Given the description of an element on the screen output the (x, y) to click on. 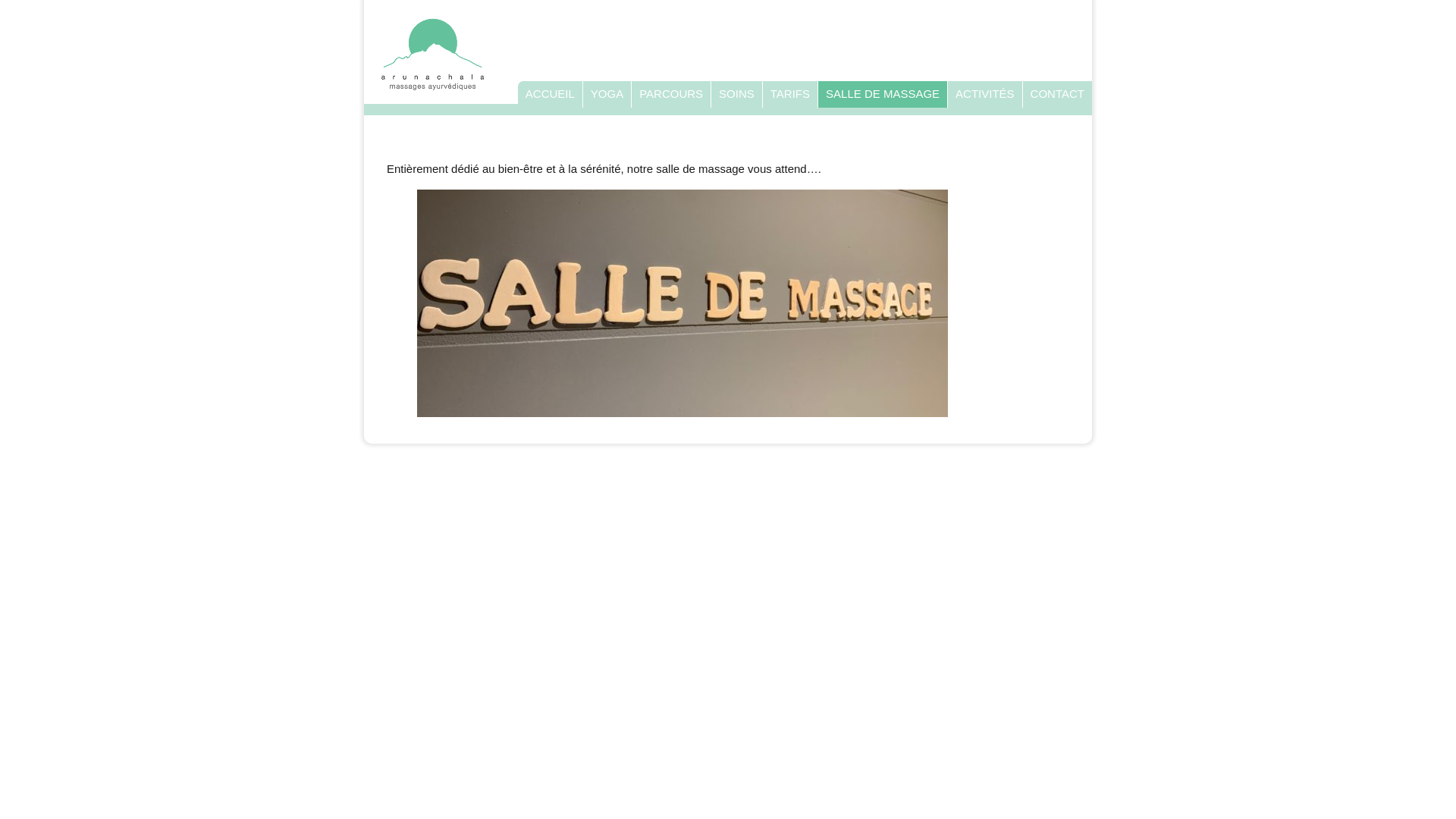
SOINS Element type: text (736, 93)
TARIFS Element type: text (789, 93)
PARCOURS Element type: text (670, 93)
ACCUEIL Element type: text (549, 93)
sdm Element type: hover (682, 303)
Logo Arunachala Element type: hover (432, 53)
SALLE DE MASSAGE Element type: text (882, 93)
CONTACT Element type: text (1057, 93)
YOGA Element type: text (606, 93)
